Given the description of an element on the screen output the (x, y) to click on. 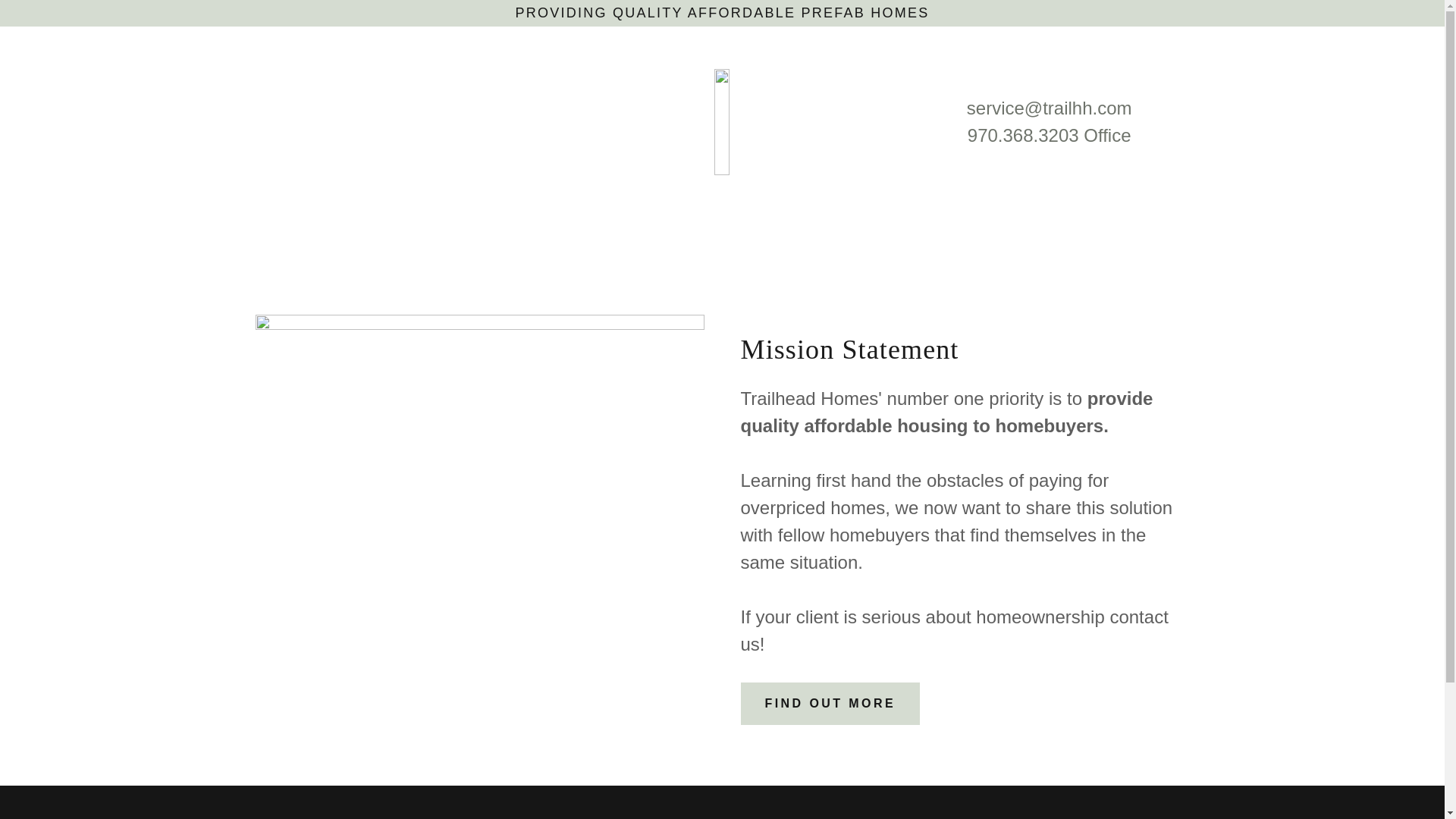
970.368.3203 (1023, 135)
